Given the description of an element on the screen output the (x, y) to click on. 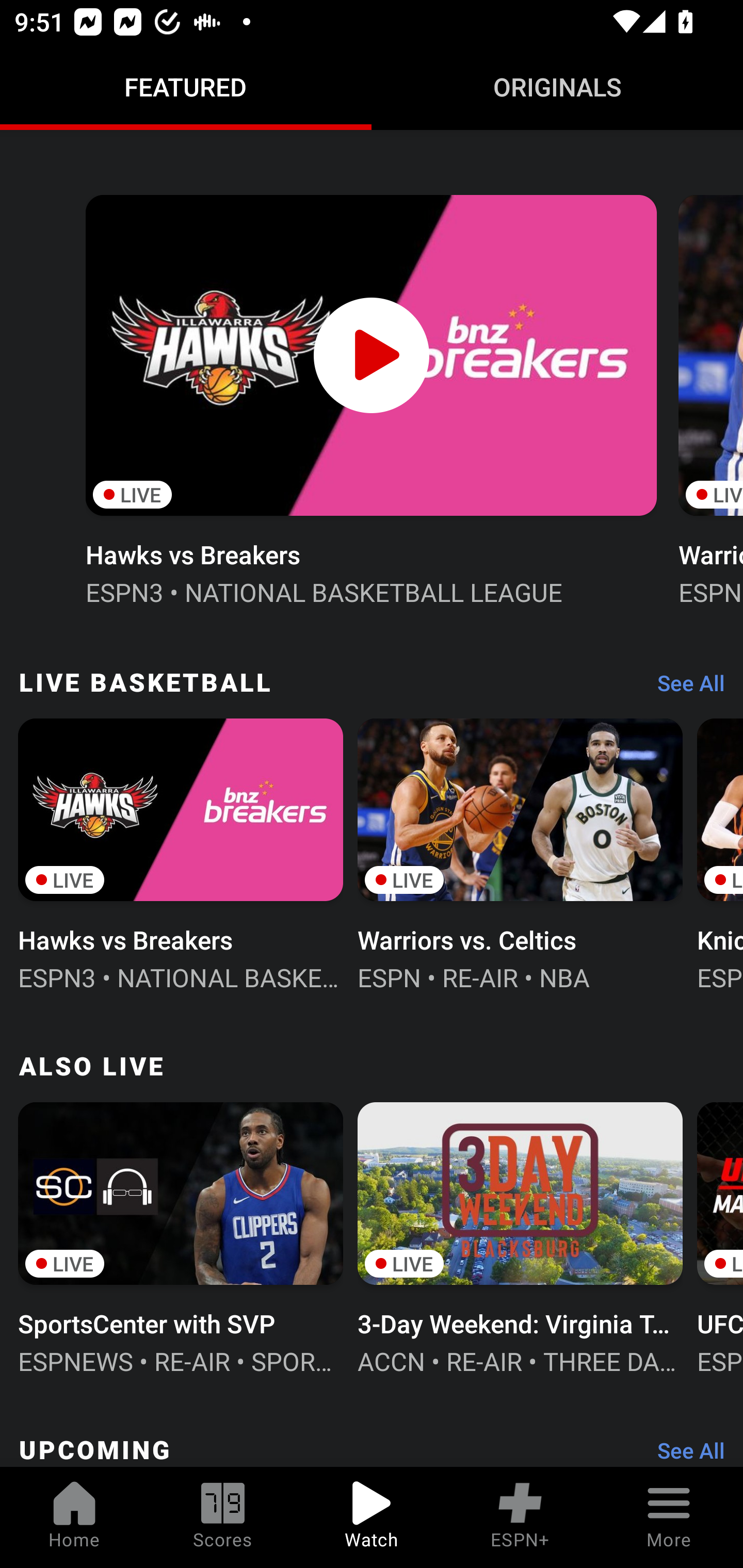
Originals ORIGINALS (557, 86)
See All (683, 687)
LIVE Warriors vs. Celtics ESPN • RE-AIR • NBA (519, 852)
See All (683, 1449)
Home (74, 1517)
Scores (222, 1517)
ESPN+ (519, 1517)
More (668, 1517)
